Given the description of an element on the screen output the (x, y) to click on. 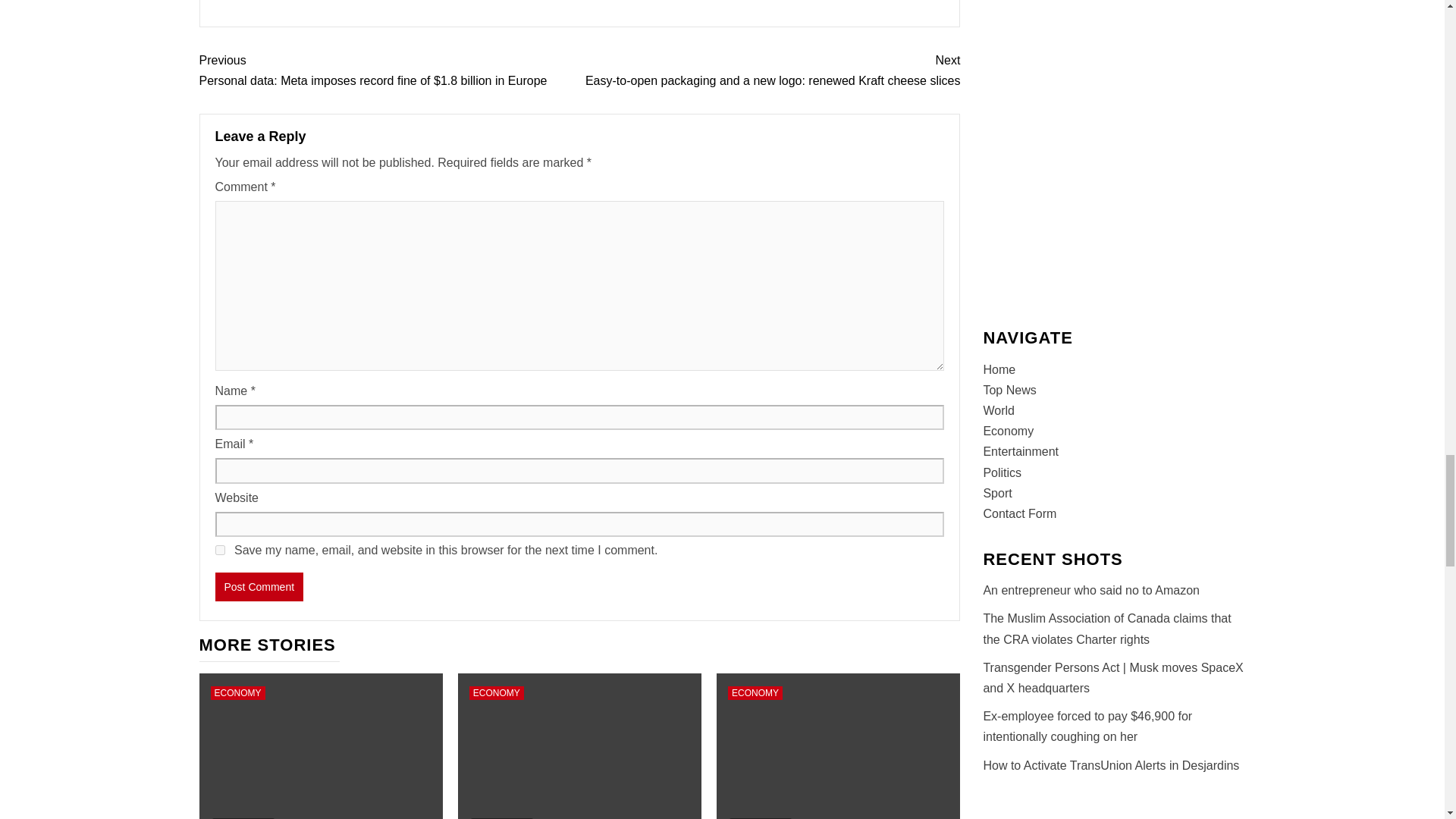
Post Comment (259, 586)
yes (220, 550)
ECONOMY (237, 693)
Post Comment (259, 586)
ECONOMY (496, 693)
